Given the description of an element on the screen output the (x, y) to click on. 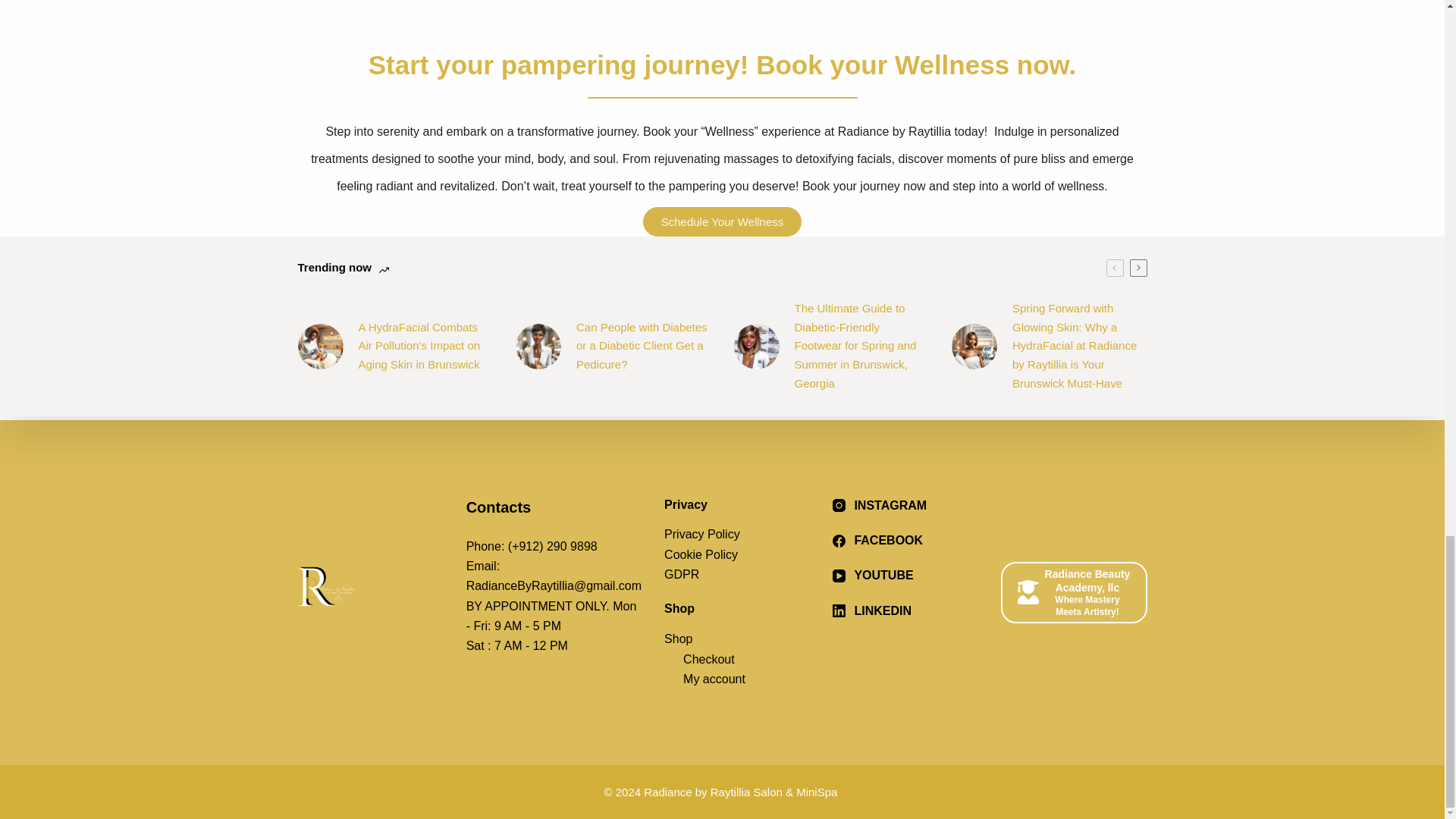
Schedule Your Wellness (722, 221)
